Given the description of an element on the screen output the (x, y) to click on. 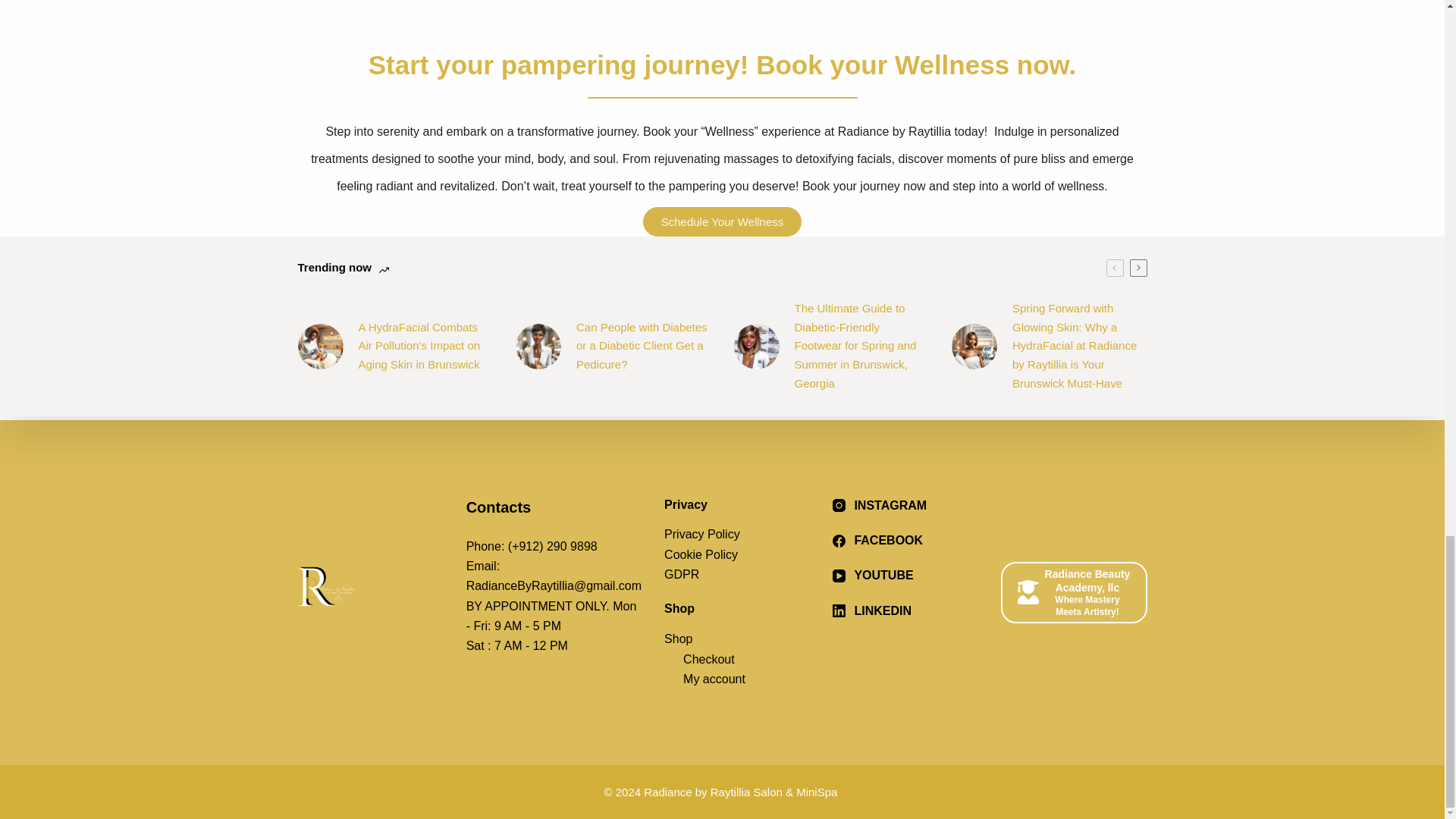
Schedule Your Wellness (722, 221)
